Given the description of an element on the screen output the (x, y) to click on. 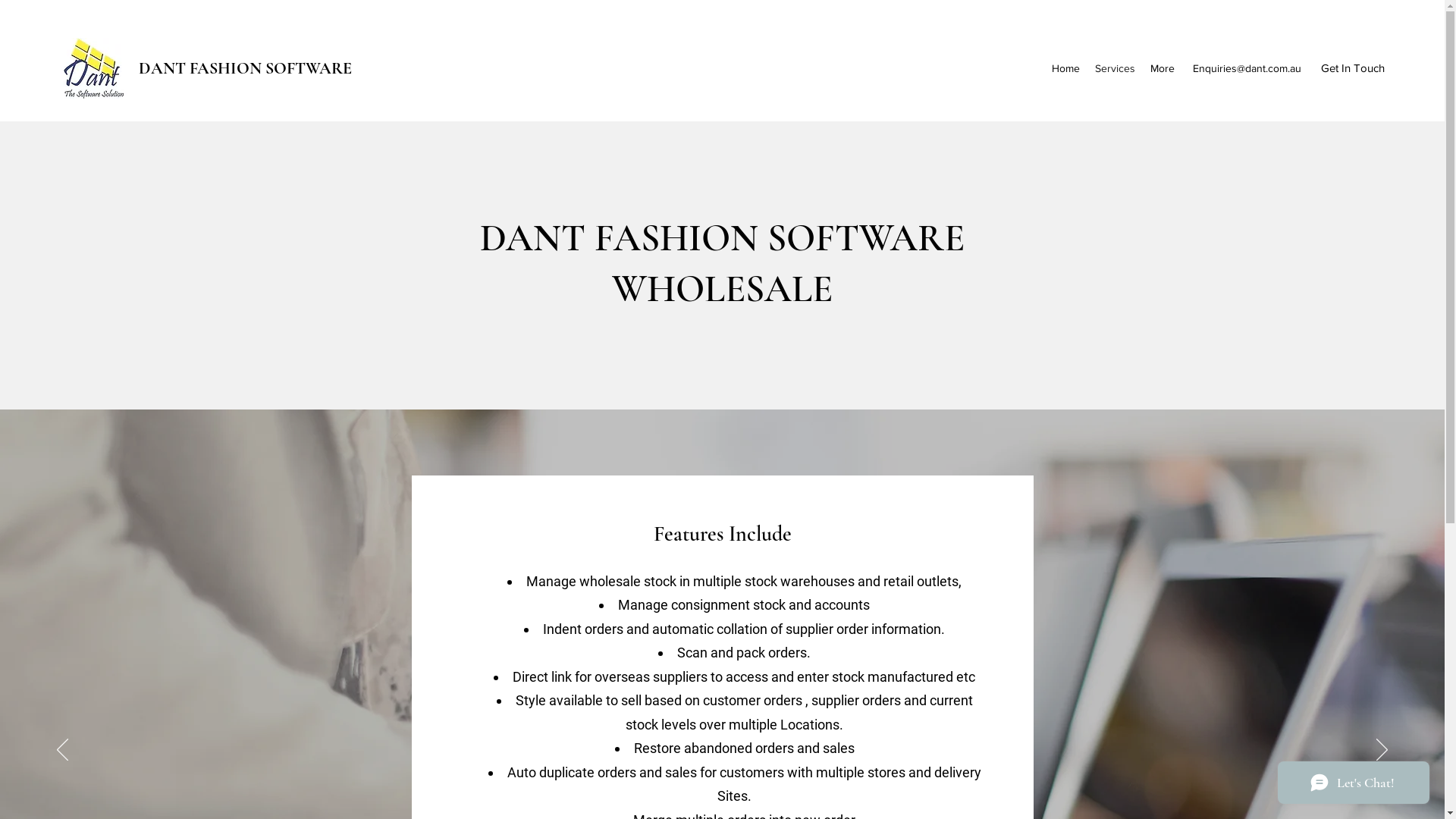
DANT FASHION SOFTWARE Element type: text (244, 68)
Services Element type: text (1114, 67)
Enquiries@dant.com.au Element type: text (1246, 68)
Home Element type: text (1065, 67)
Get In Touch Element type: text (1352, 68)
